Given the description of an element on the screen output the (x, y) to click on. 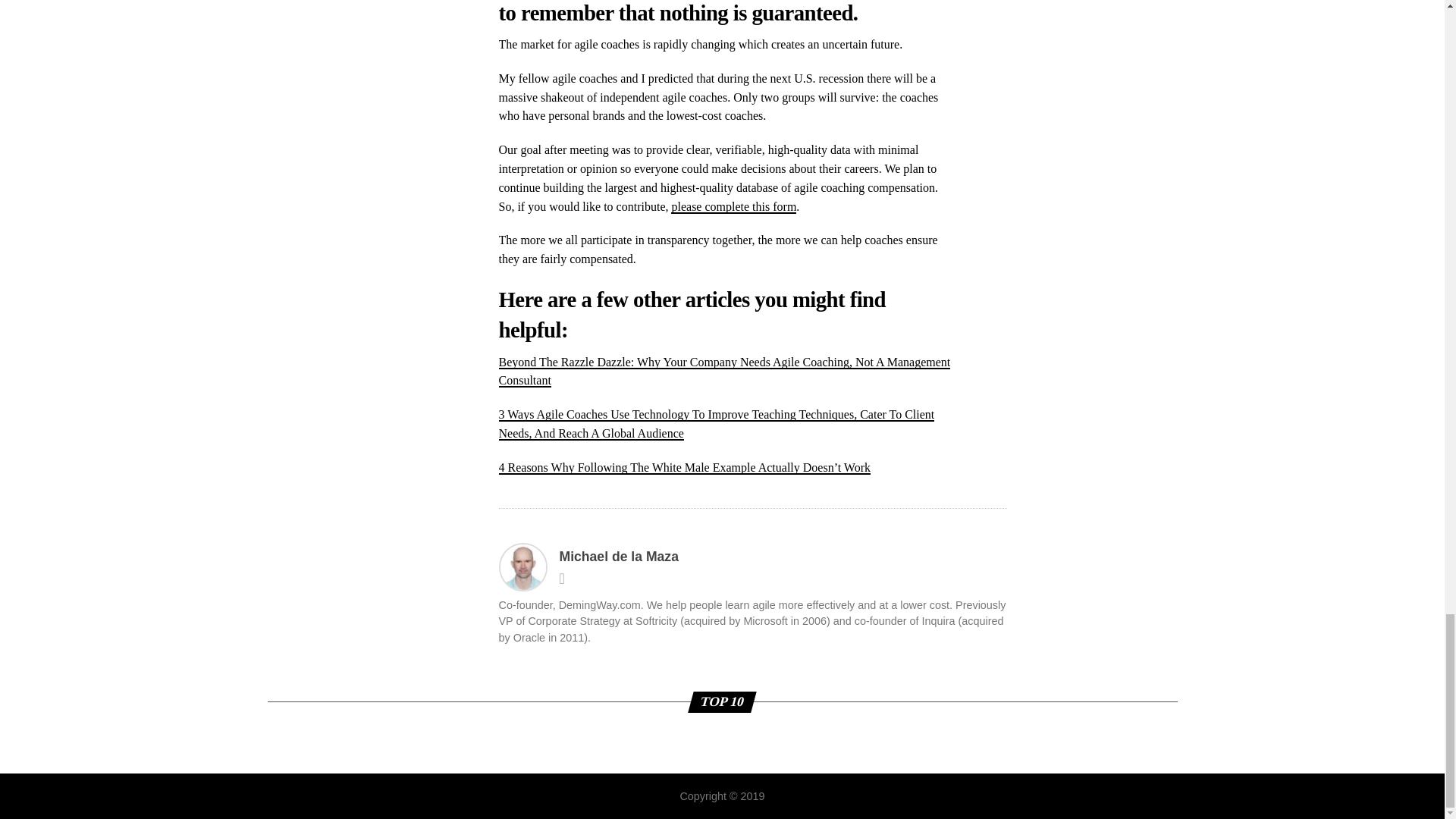
Posts by Michael de la Maza (618, 556)
please complete this form (733, 206)
